Given the description of an element on the screen output the (x, y) to click on. 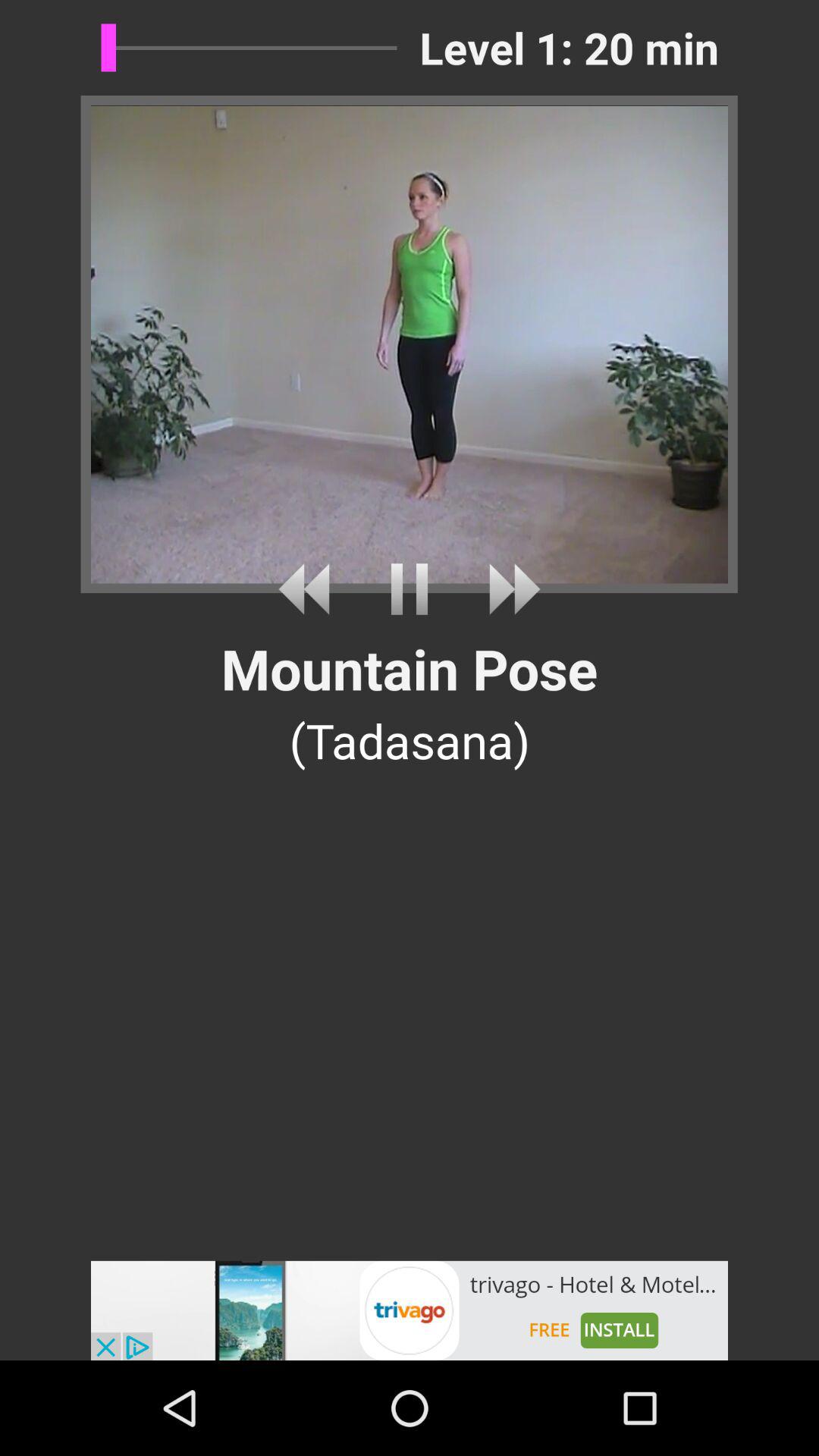
go back (309, 589)
